Given the description of an element on the screen output the (x, y) to click on. 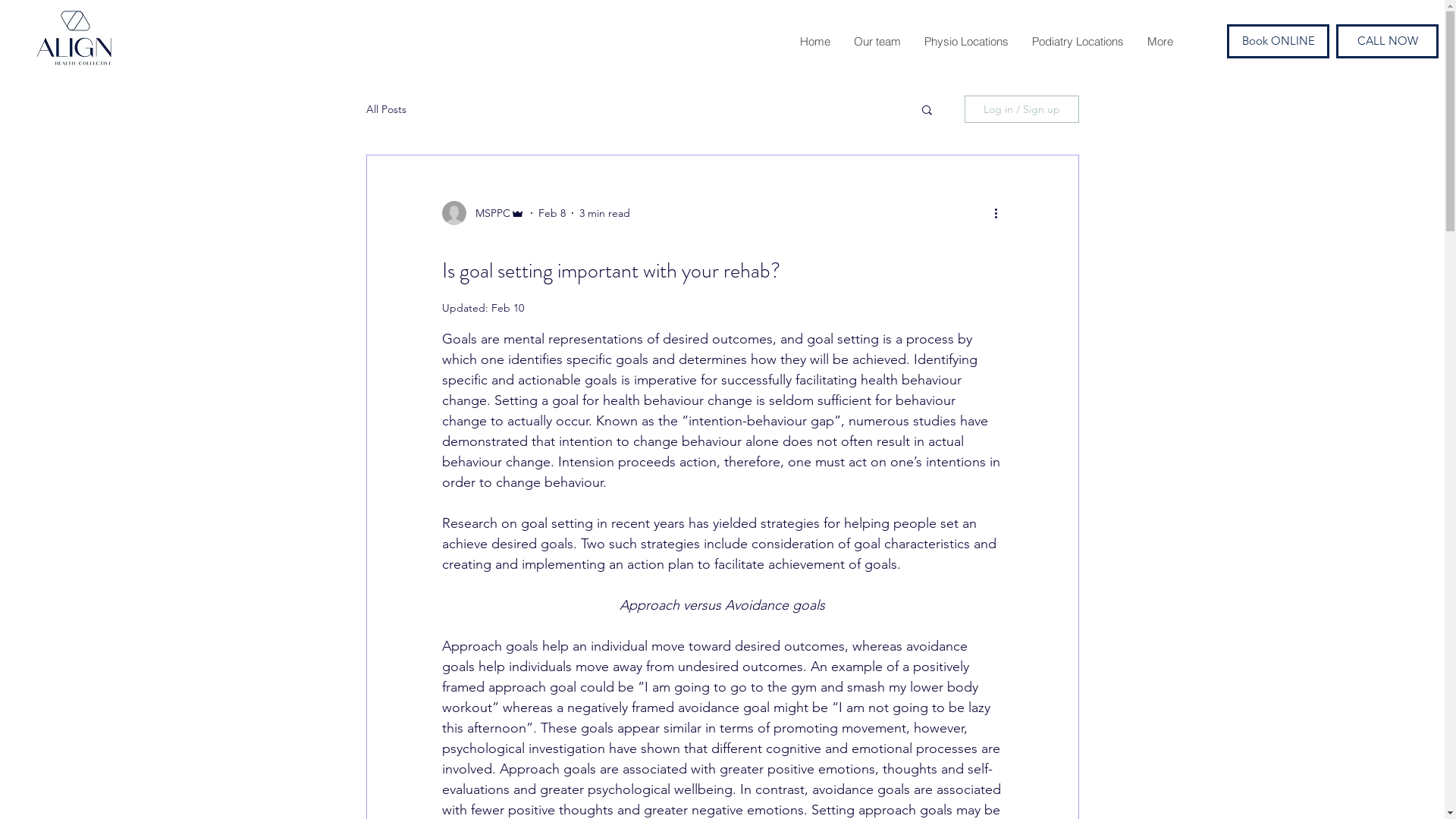
CALL NOW Element type: text (1387, 41)
Physio Locations Element type: text (965, 41)
Our team Element type: text (876, 41)
Podiatry Locations Element type: text (1077, 41)
Home Element type: text (814, 41)
Log in / Sign up Element type: text (1021, 108)
All Posts Element type: text (385, 109)
Book ONLINE Element type: text (1277, 41)
